Given the description of an element on the screen output the (x, y) to click on. 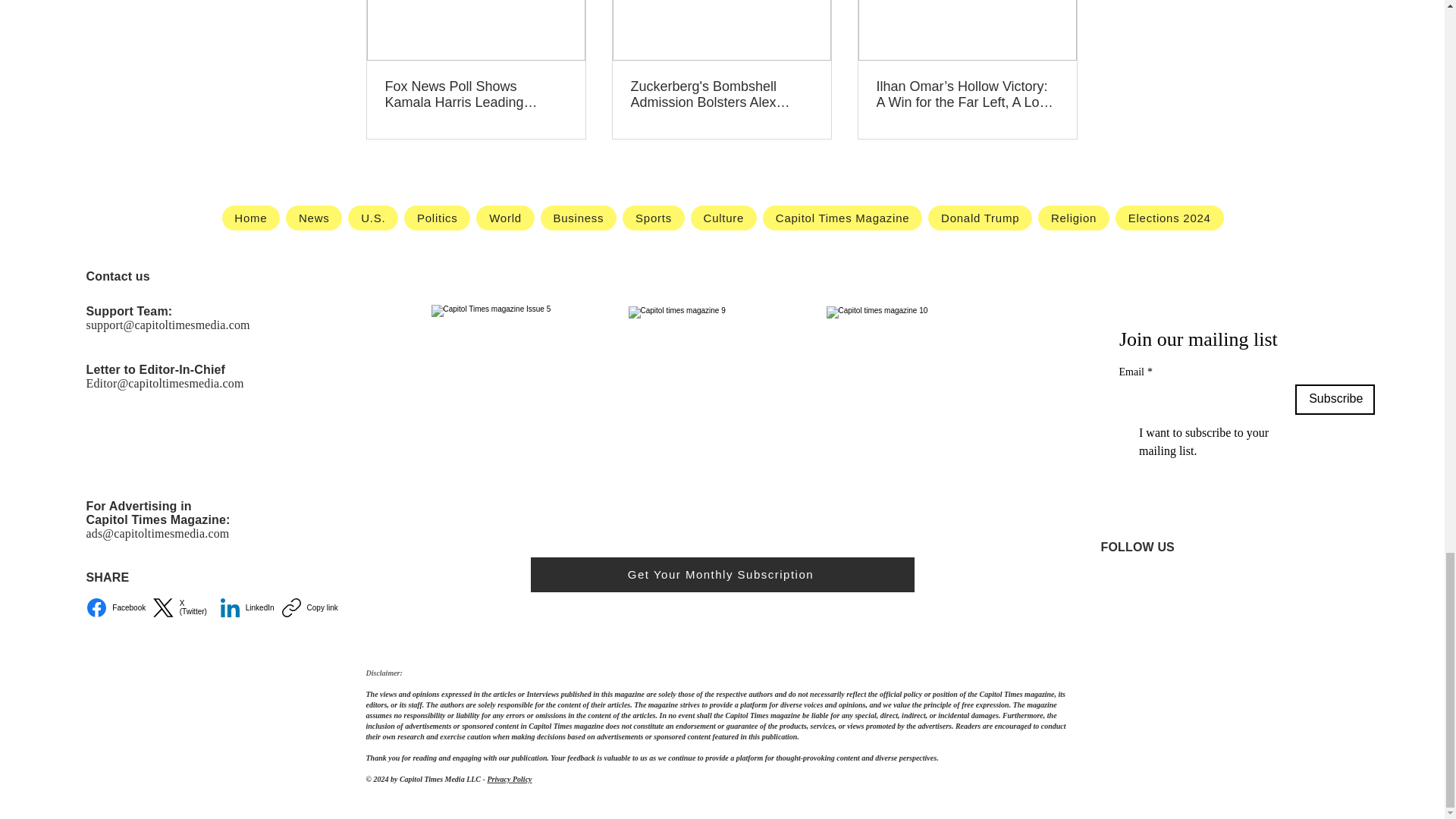
World (505, 217)
Capitol Times Magazine (841, 217)
Home (250, 217)
Elections 2024 (1169, 217)
Culture (723, 217)
Sports (653, 217)
Religion (1073, 217)
News (313, 217)
